Given the description of an element on the screen output the (x, y) to click on. 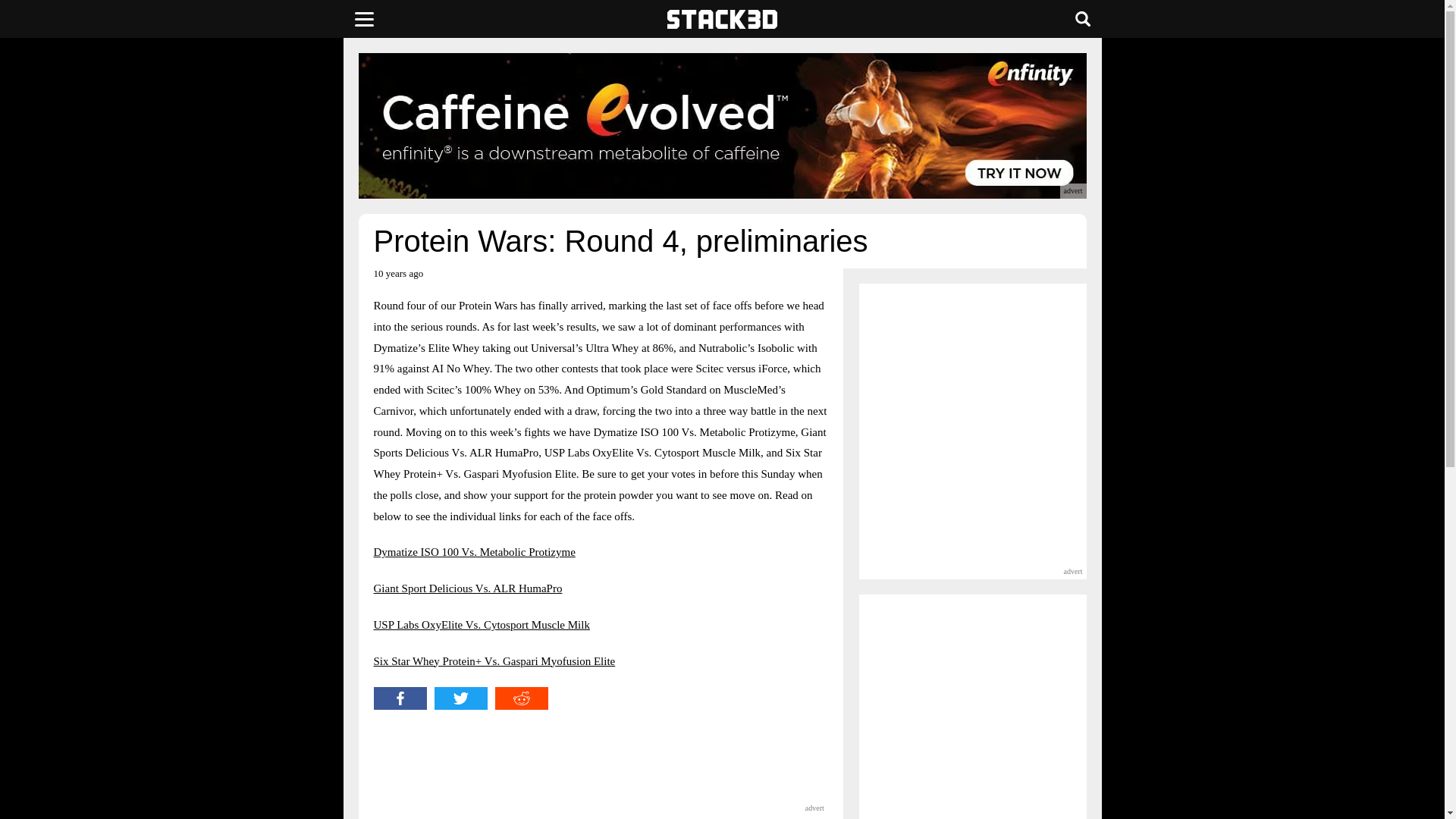
Giant Sport Delicious Vs. ALR HumaPro (467, 588)
Dymatize ISO 100 Vs. Metabolic Protizyme (473, 551)
USP Labs OxyElite Vs. Cytosport Muscle Milk (480, 624)
November 18th 2013 (398, 278)
